Given the description of an element on the screen output the (x, y) to click on. 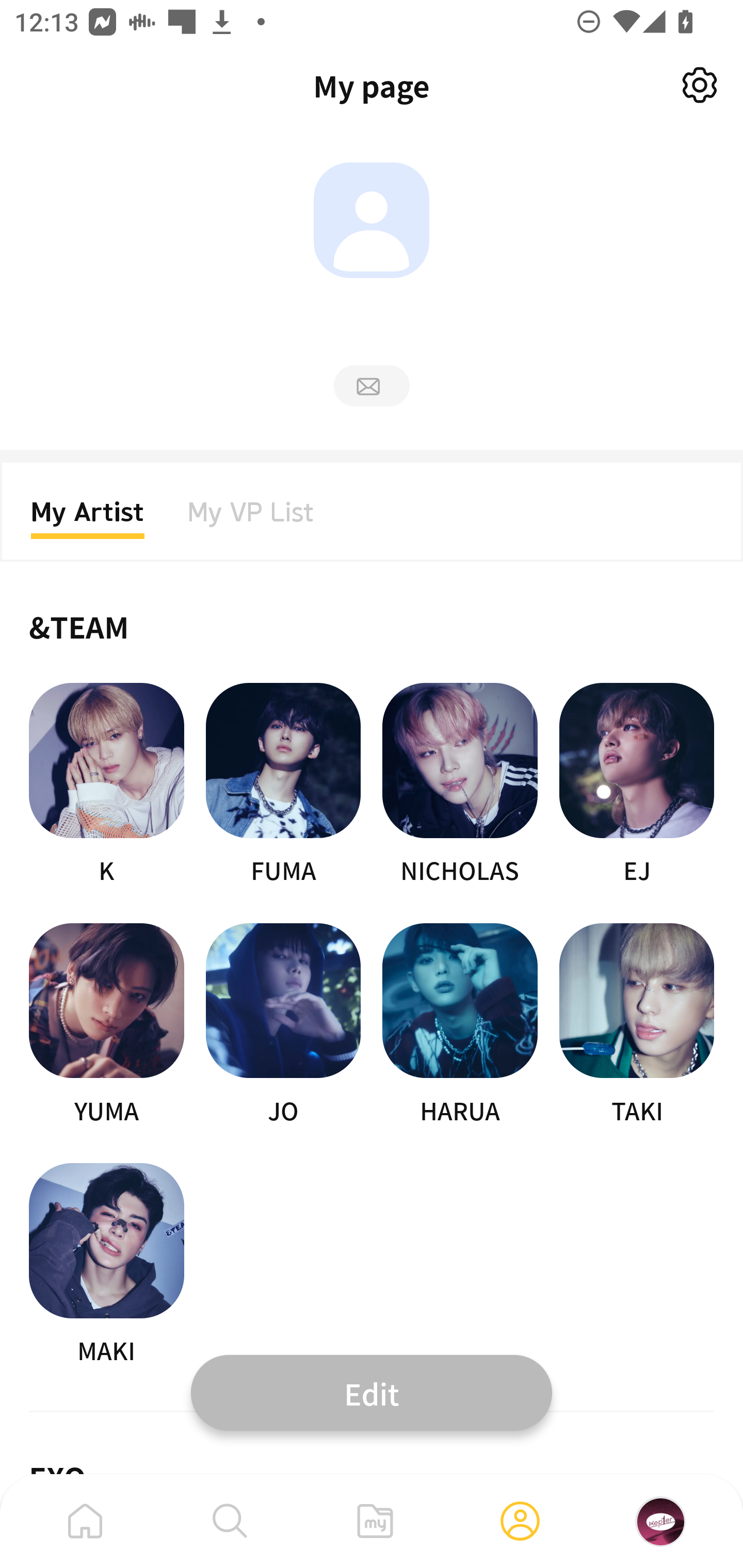
My Artist (87, 517)
My VP List (250, 517)
K (106, 785)
FUMA (282, 785)
NICHOLAS (459, 785)
EJ (636, 785)
YUMA (106, 1025)
JO (282, 1025)
HARUA (459, 1025)
TAKI (636, 1025)
MAKI (106, 1265)
Edit (371, 1392)
